Given the description of an element on the screen output the (x, y) to click on. 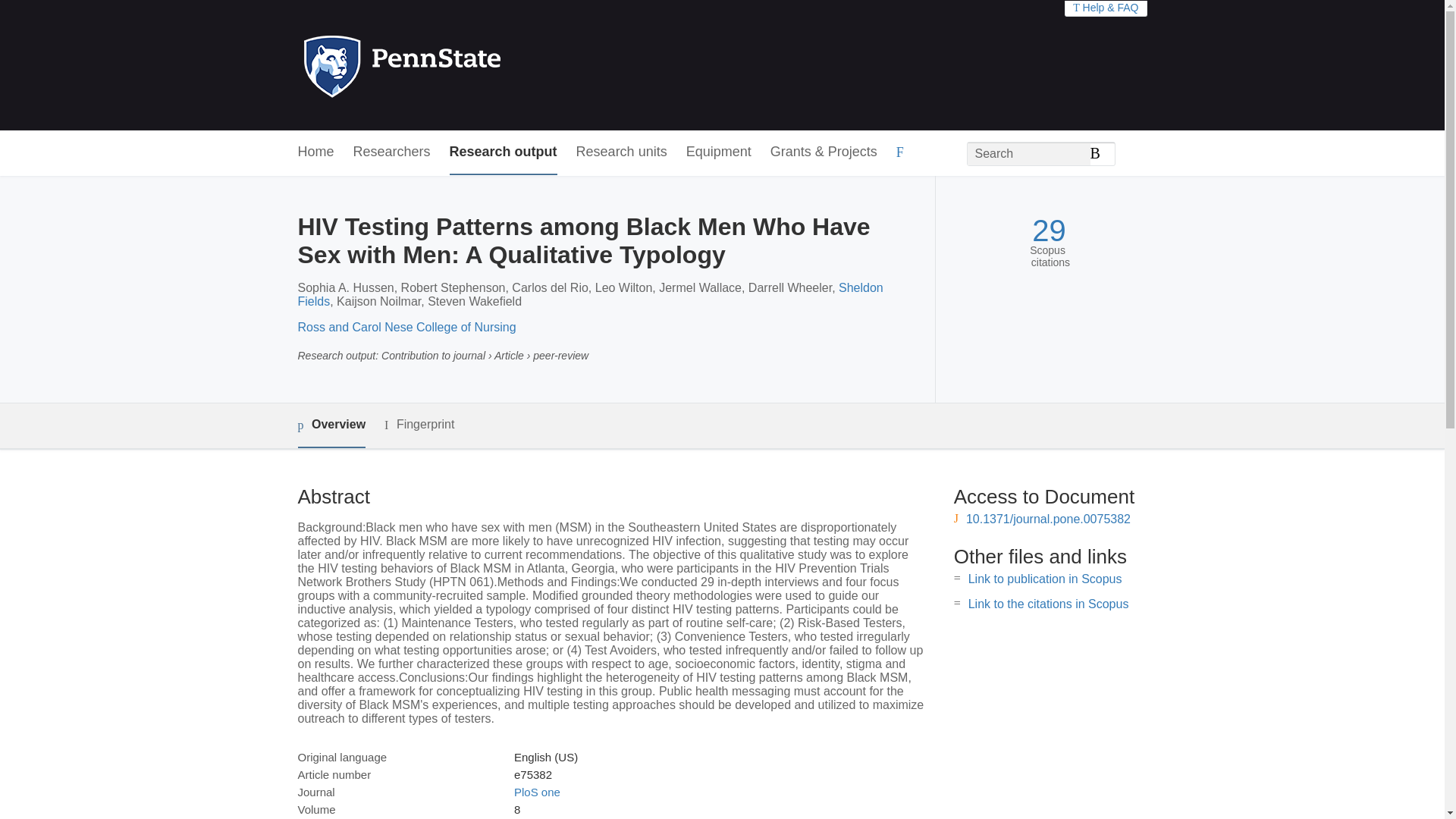
Researchers (391, 152)
Ross and Carol Nese College of Nursing (406, 327)
Link to publication in Scopus (1045, 578)
Sheldon Fields (589, 294)
Equipment (718, 152)
29 (1048, 230)
Penn State Home (467, 65)
Fingerprint (419, 424)
Overview (331, 425)
